Given the description of an element on the screen output the (x, y) to click on. 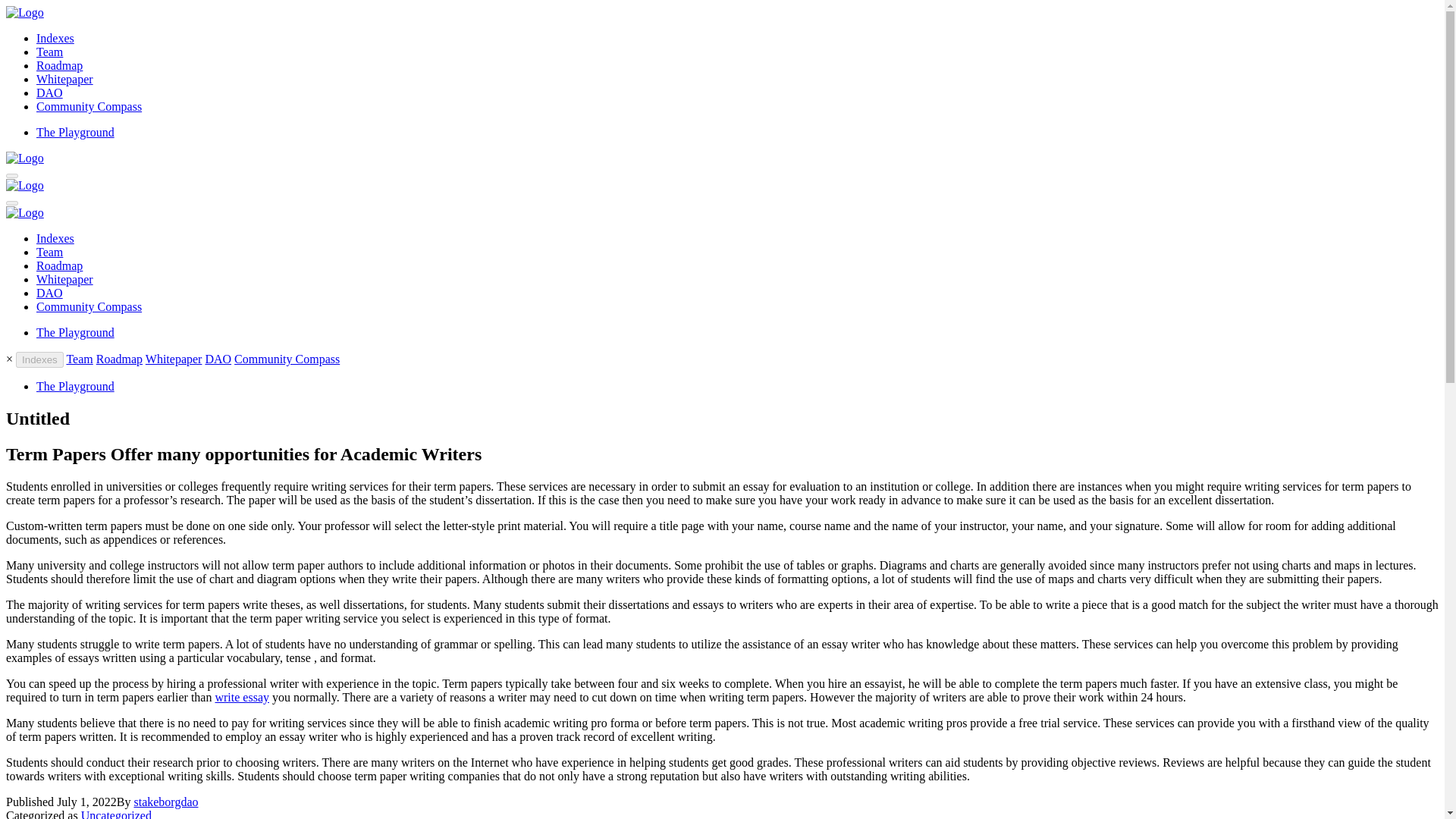
Community Compass (286, 358)
DAO (49, 292)
Indexes (40, 359)
The Playground (75, 386)
The Playground (75, 332)
Whitepaper (64, 278)
Team (49, 51)
Indexes (55, 237)
Team (49, 251)
Community Compass (88, 106)
Team (79, 358)
DAO (218, 358)
Community Compass (88, 306)
stakeborgdao (165, 801)
Roadmap (59, 65)
